Given the description of an element on the screen output the (x, y) to click on. 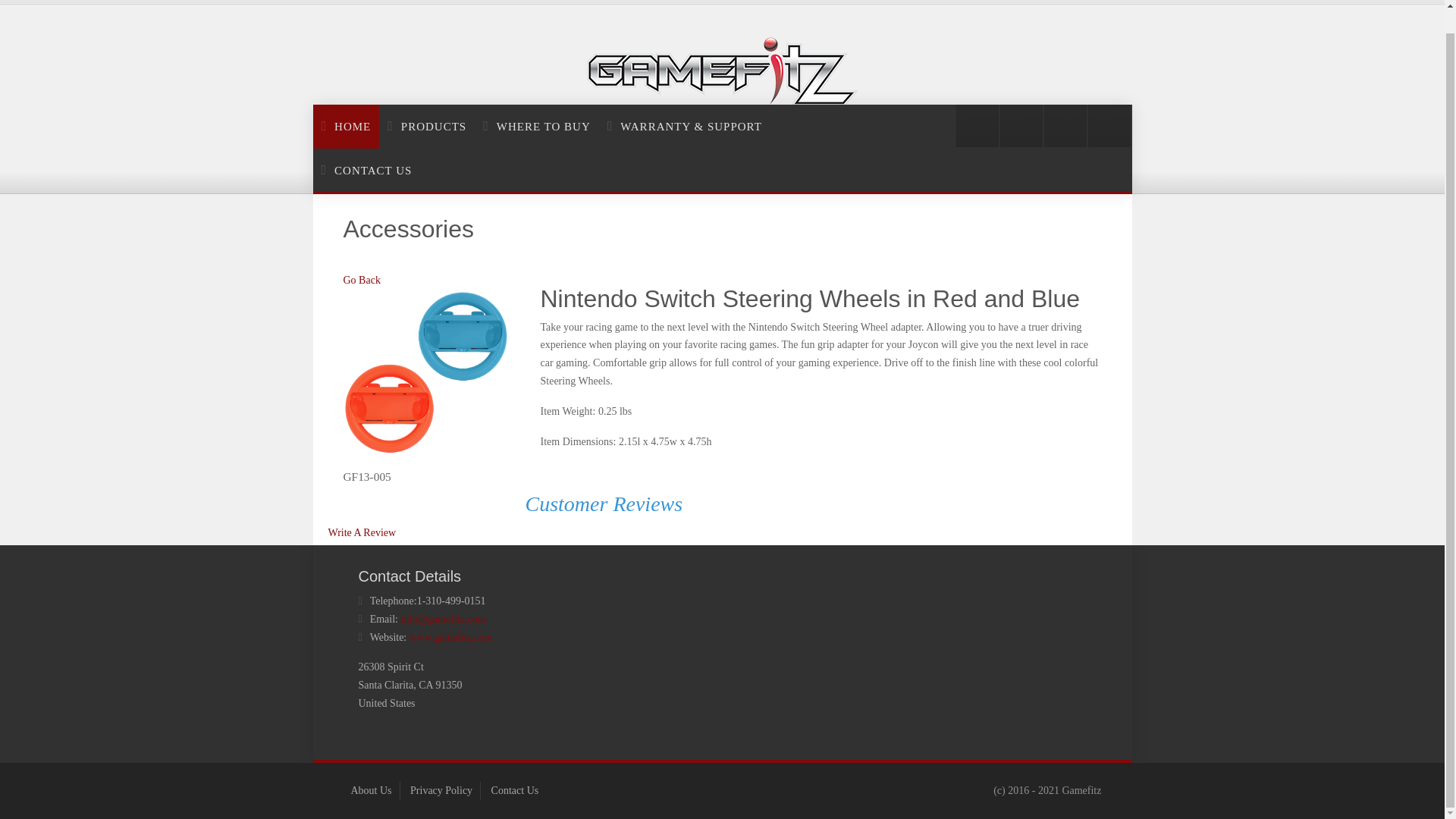
Privacy Policy (440, 790)
Contact Us (515, 790)
HOME (345, 126)
Facebook (1064, 125)
About Us (370, 790)
Write A Review (361, 532)
RSS (977, 125)
www.gamefitz.com (451, 636)
Go Back (361, 279)
WHERE TO BUY (536, 126)
Twitter (1021, 125)
CONTACT US (366, 170)
